Given the description of an element on the screen output the (x, y) to click on. 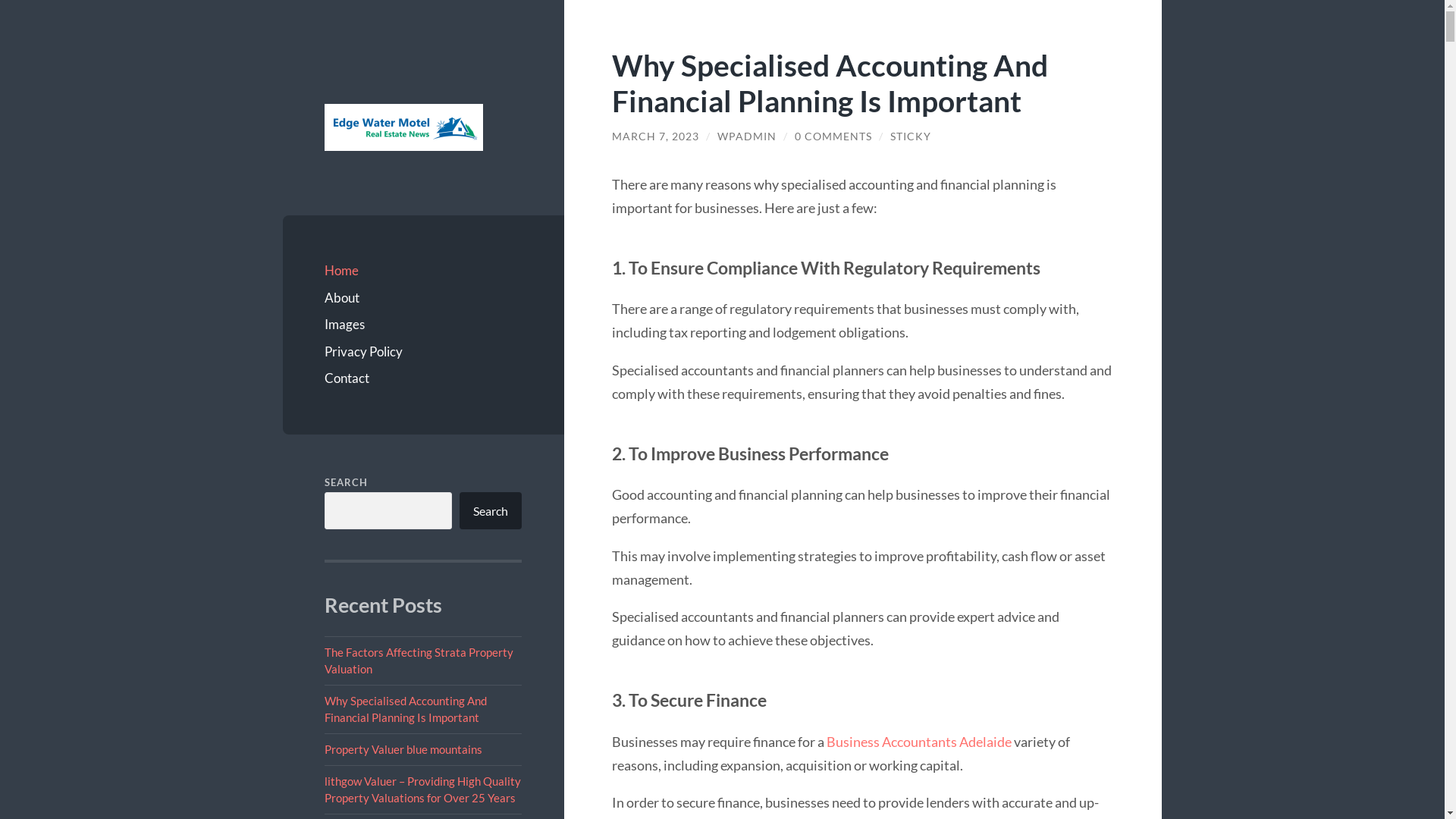
Search Element type: text (490, 510)
The Factors Affecting Strata Property Valuation Element type: text (418, 659)
Edge Water Motel Element type: text (403, 126)
WPADMIN Element type: text (746, 136)
Contact Element type: text (422, 378)
Home Element type: text (422, 270)
Property Valuer blue mountains Element type: text (403, 749)
Images Element type: text (422, 324)
Business Accountants Adelaide Element type: text (918, 741)
MARCH 7, 2023 Element type: text (655, 136)
About Element type: text (422, 297)
Privacy Policy Element type: text (422, 351)
0 COMMENTS Element type: text (833, 136)
